Given the description of an element on the screen output the (x, y) to click on. 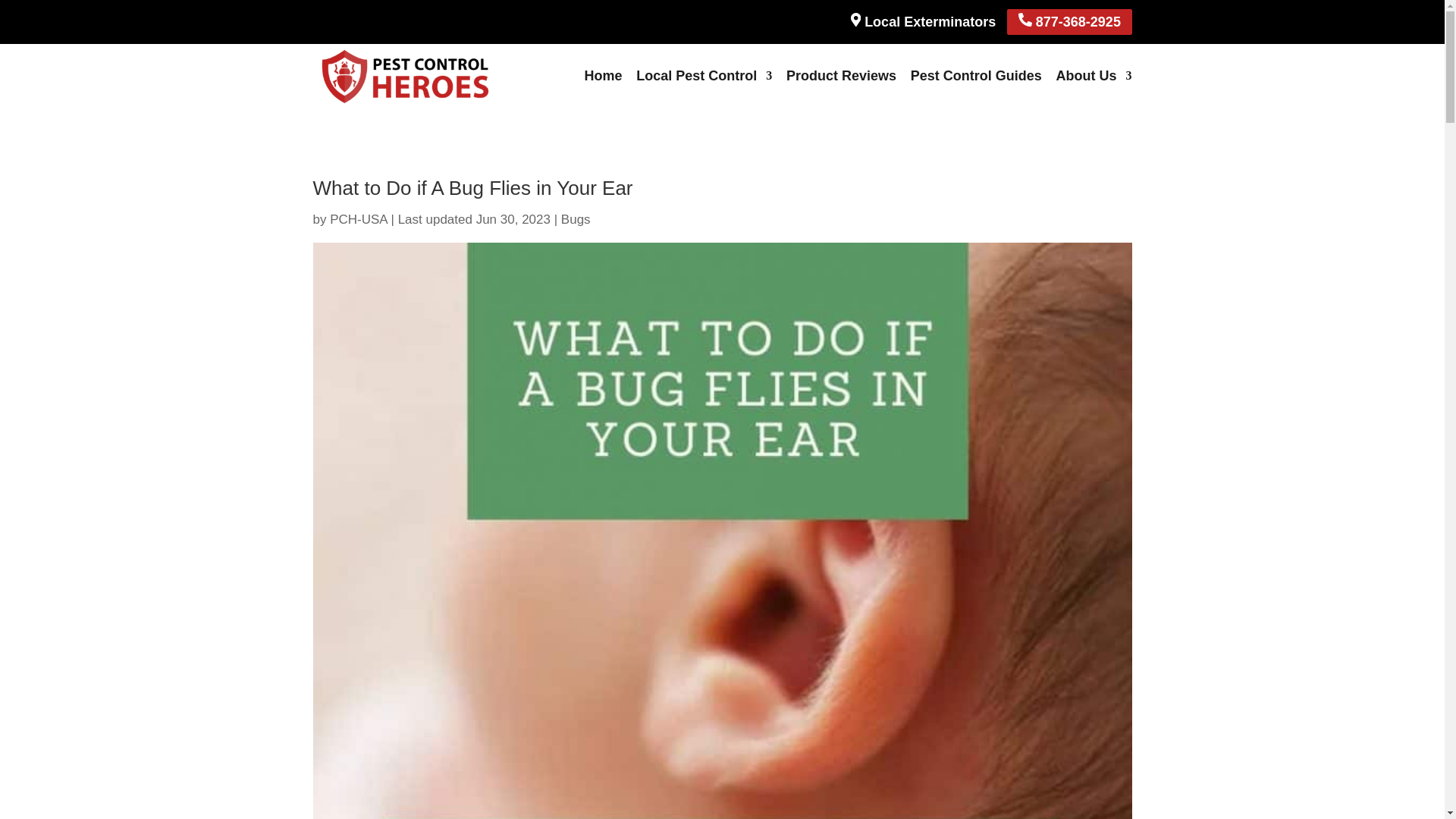
Bugs (575, 219)
Local Exterminators (922, 21)
About Us (1093, 75)
877-368-2925 (1069, 22)
PCH-USA (358, 219)
Home (602, 75)
Posts by PCH-USA (358, 219)
Local Pest Control (703, 75)
Product Reviews (841, 75)
Pest Control Guides (976, 75)
